Given the description of an element on the screen output the (x, y) to click on. 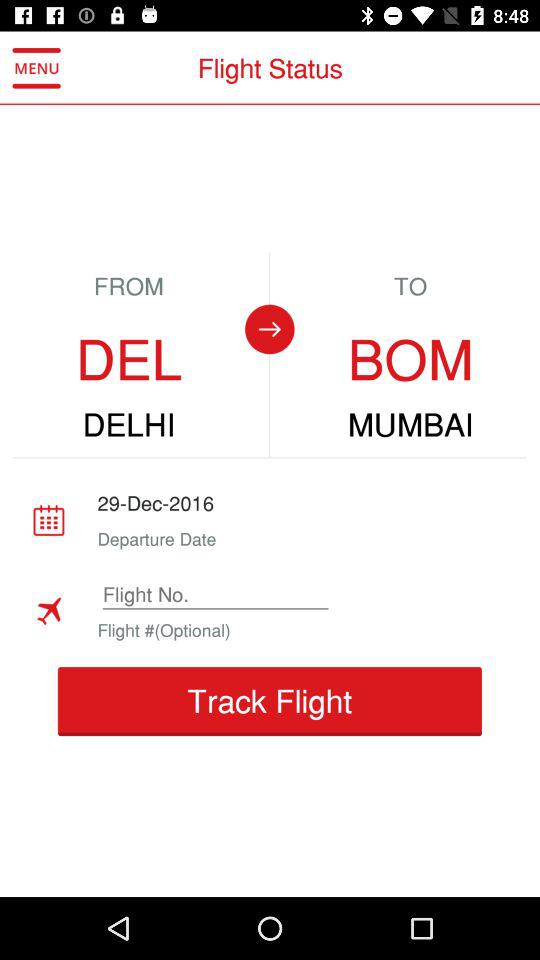
turn off the mumbai (410, 425)
